Given the description of an element on the screen output the (x, y) to click on. 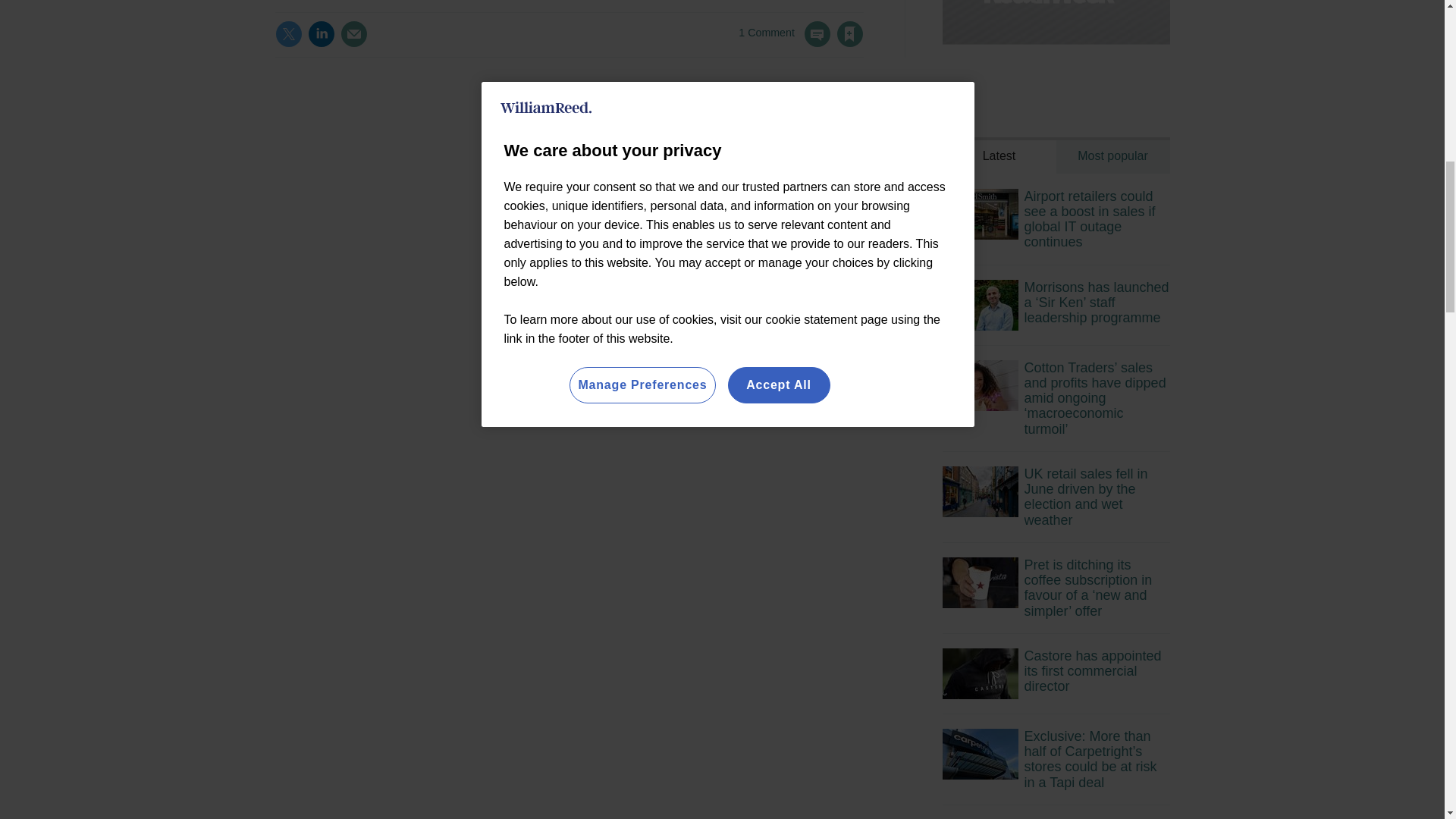
Email this article (352, 33)
Share this on Linked in (320, 33)
Share this on Twitter (288, 33)
1 Comment (784, 43)
